Given the description of an element on the screen output the (x, y) to click on. 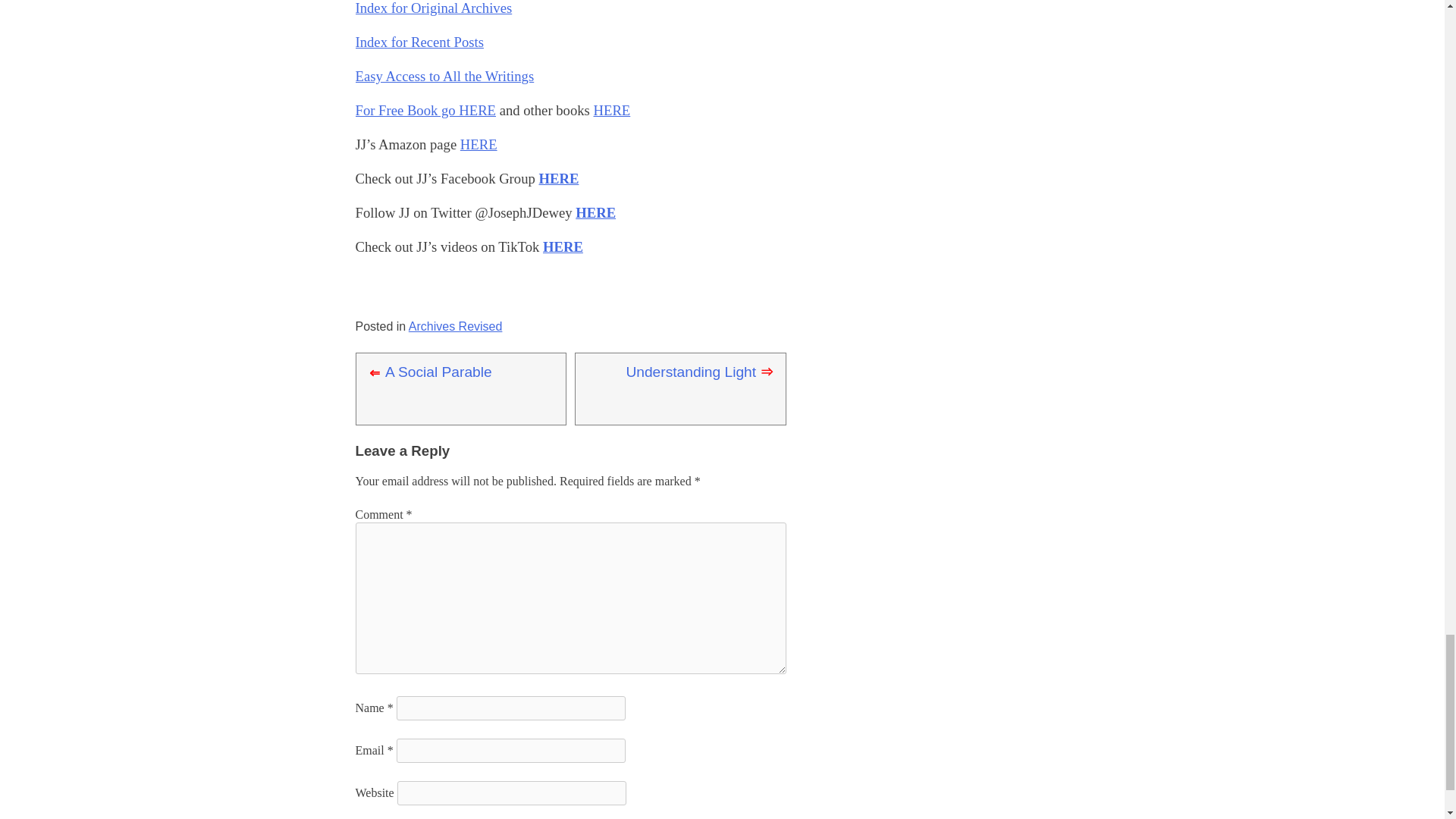
Index for Recent Posts (419, 41)
HERE (563, 246)
Easy Access to All the Writings (444, 75)
A Social Parable (438, 371)
Archives Revised (455, 326)
Understanding Light (690, 371)
HERE (612, 109)
HERE (595, 212)
HERE (558, 178)
Index for Original Archives (433, 7)
HERE (478, 144)
For Free Book go HERE (425, 109)
